Given the description of an element on the screen output the (x, y) to click on. 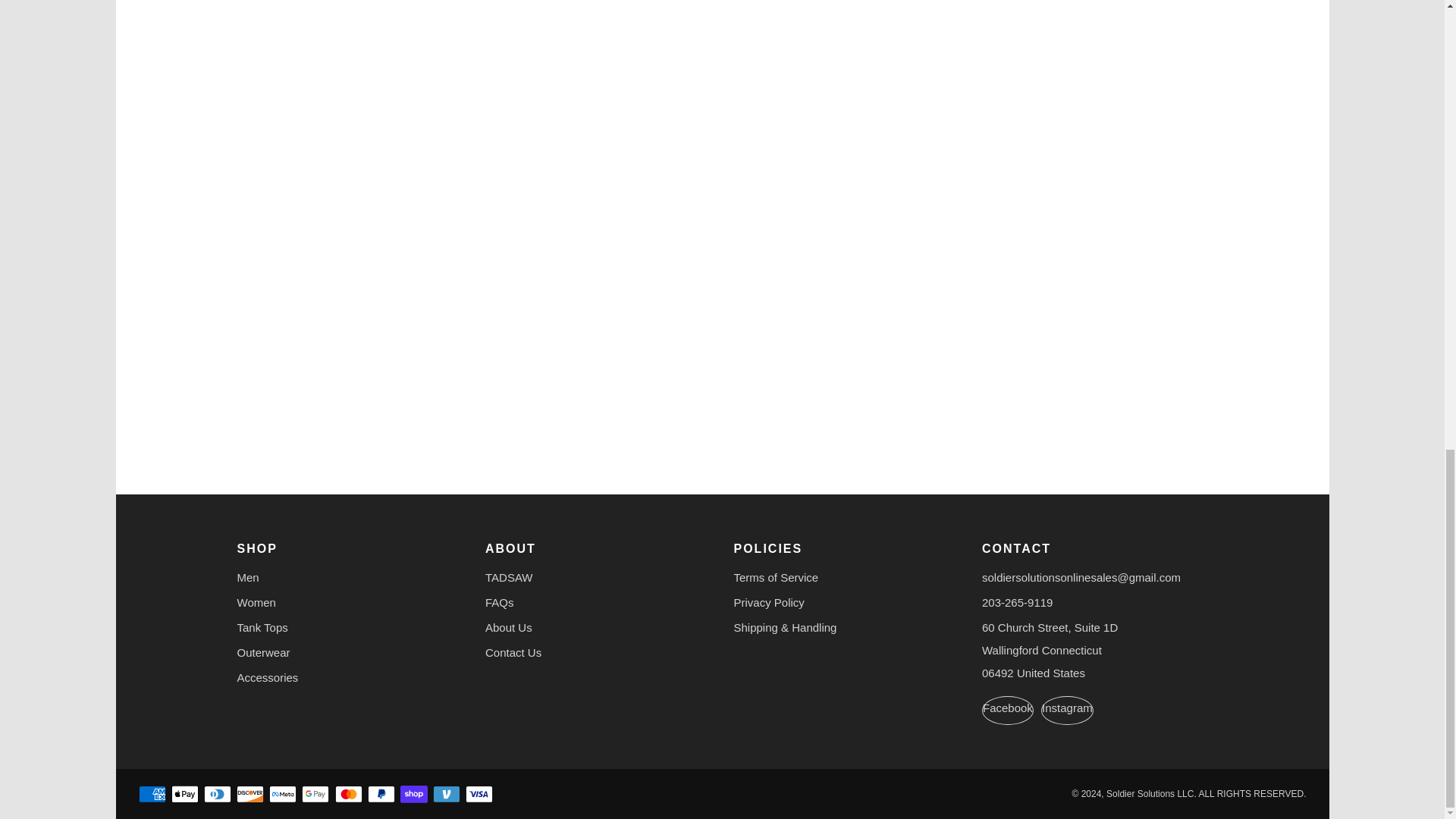
Google Pay (315, 794)
Shop Pay (414, 794)
Discover (249, 794)
Meta Pay (283, 794)
Diners Club (217, 794)
Venmo (446, 794)
American Express (151, 794)
Visa (479, 794)
Mastercard (348, 794)
Apple Pay (184, 794)
PayPal (381, 794)
